Given the description of an element on the screen output the (x, y) to click on. 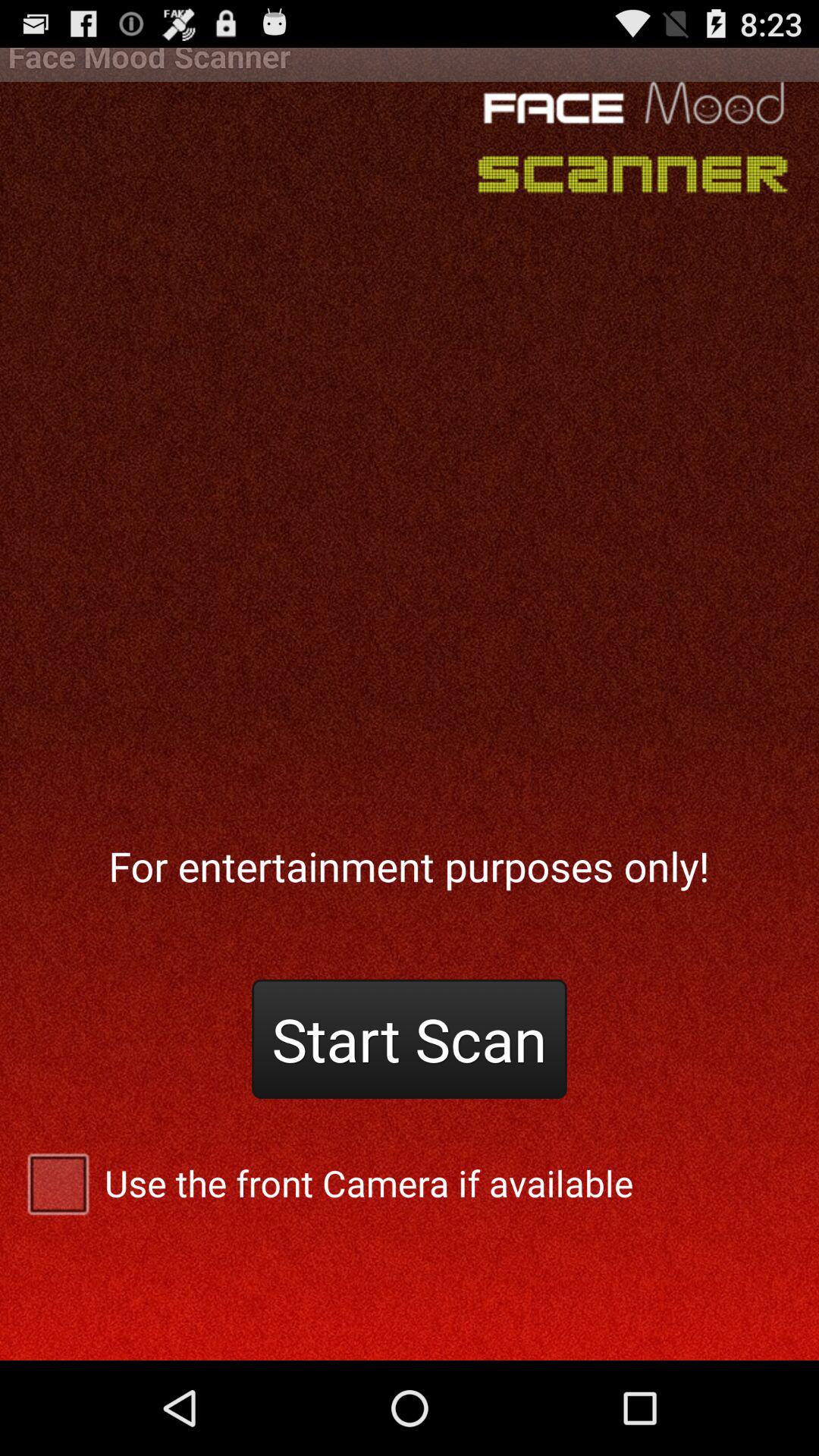
select icon above use the front icon (409, 1038)
